Given the description of an element on the screen output the (x, y) to click on. 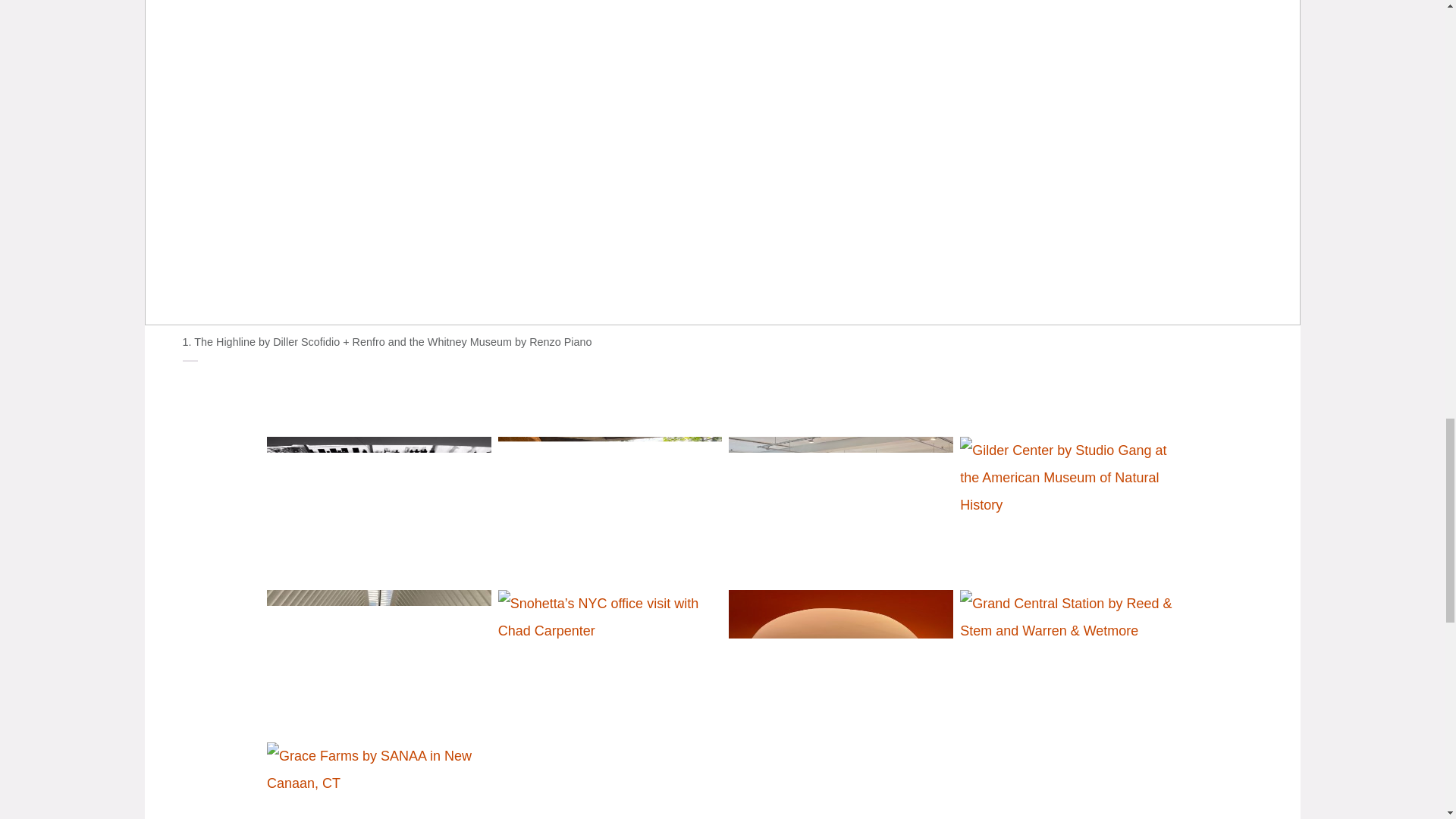
: Grace Farms by SANAA in New Canaan, CT (376, 770)
: Noguchi Museum (607, 506)
: World Trade Center Transit Hub by Santiago Calatrava (376, 659)
: Guggenheim Museum by Frank Lloyd Wright (376, 506)
: Adams Street Library by Workac (837, 659)
